Given the description of an element on the screen output the (x, y) to click on. 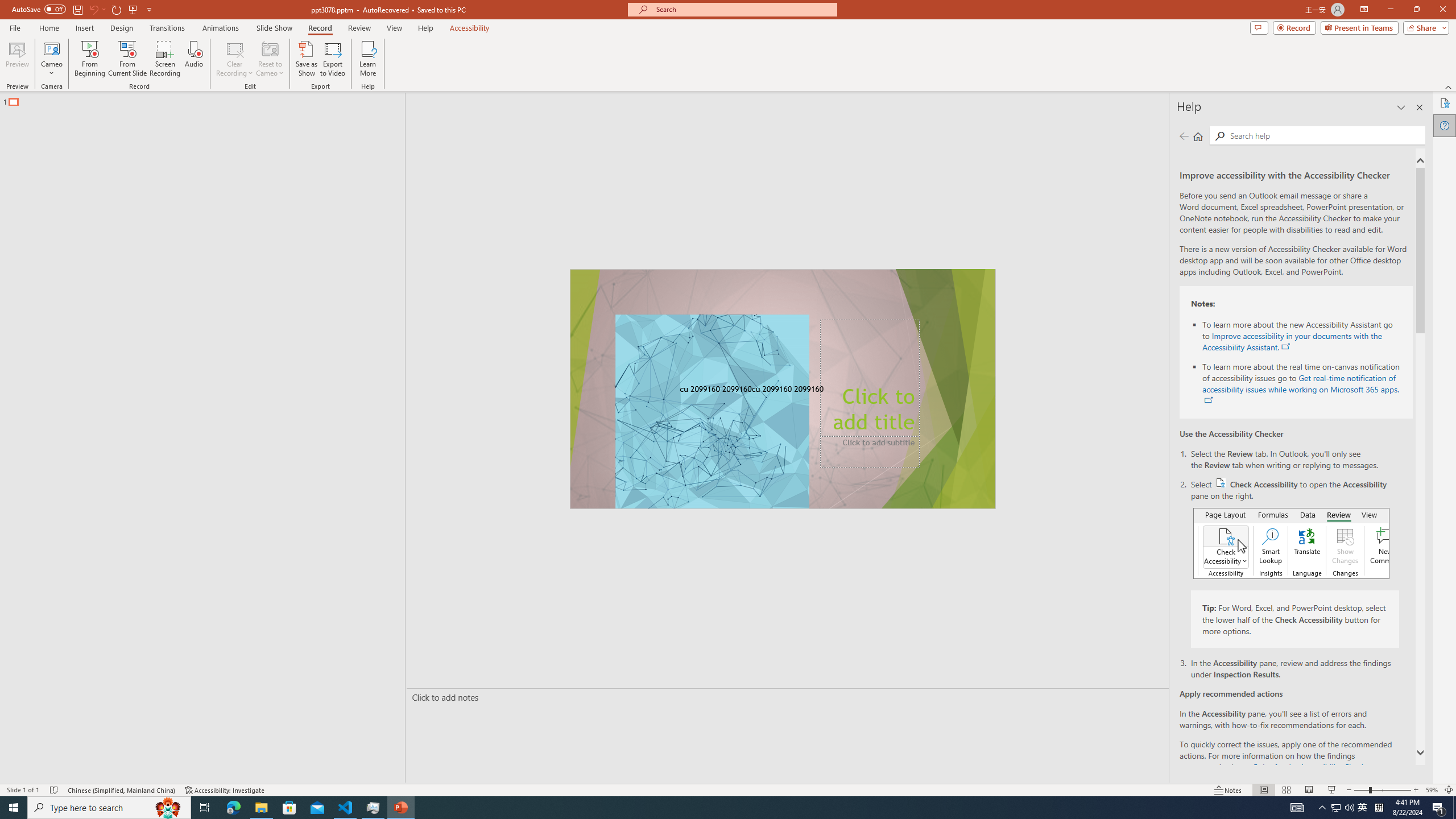
Previous page (1183, 136)
openinnewwindow (1208, 400)
TextBox 61 (781, 389)
Rectangle (196, 437)
Cameo (51, 58)
